Given the description of an element on the screen output the (x, y) to click on. 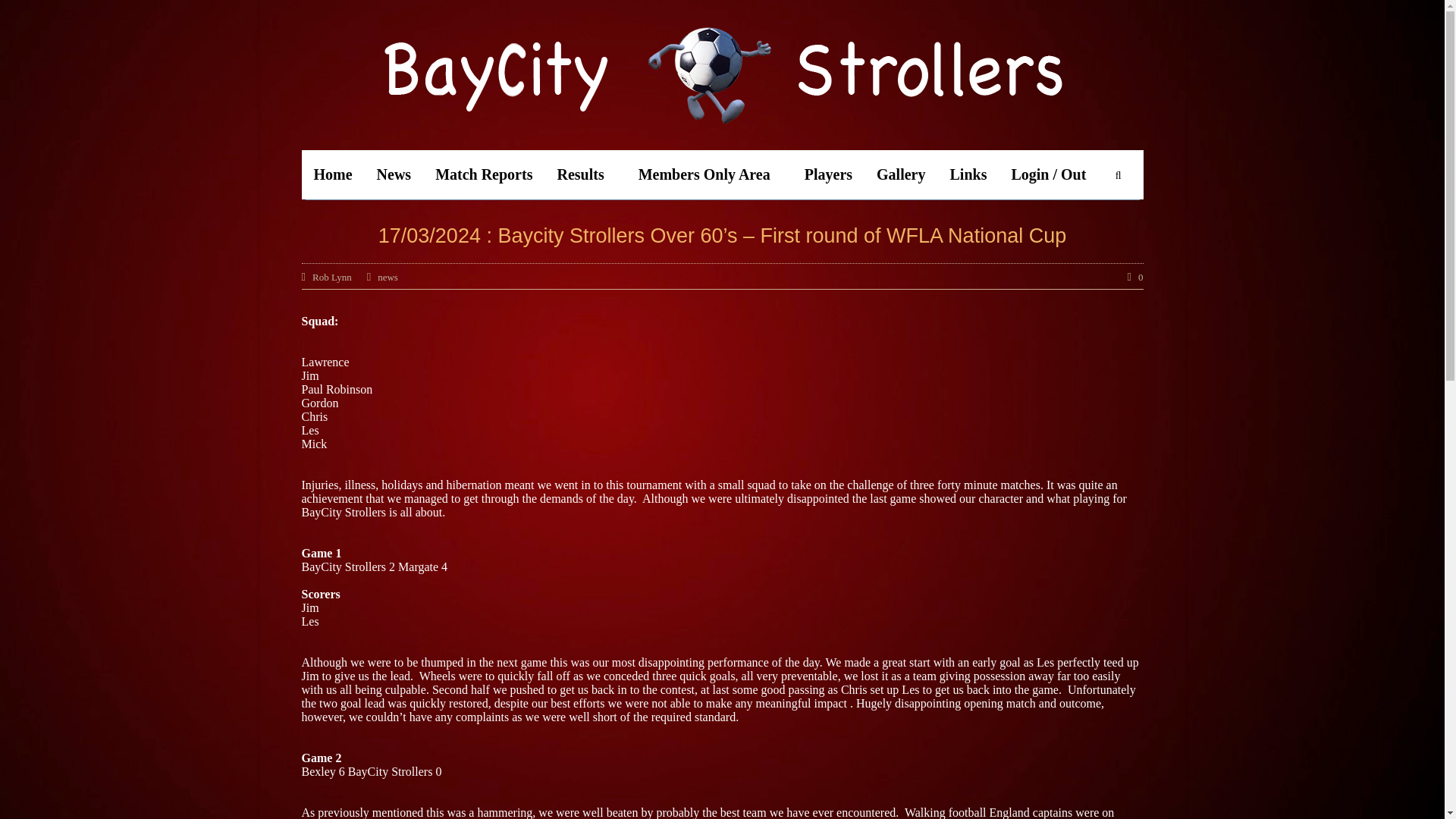
Results (585, 174)
News (394, 174)
BayCity Strollers Walking Football (722, 74)
Posts by Rob Lynn (332, 276)
Match Reports (483, 174)
Home (333, 174)
